Given the description of an element on the screen output the (x, y) to click on. 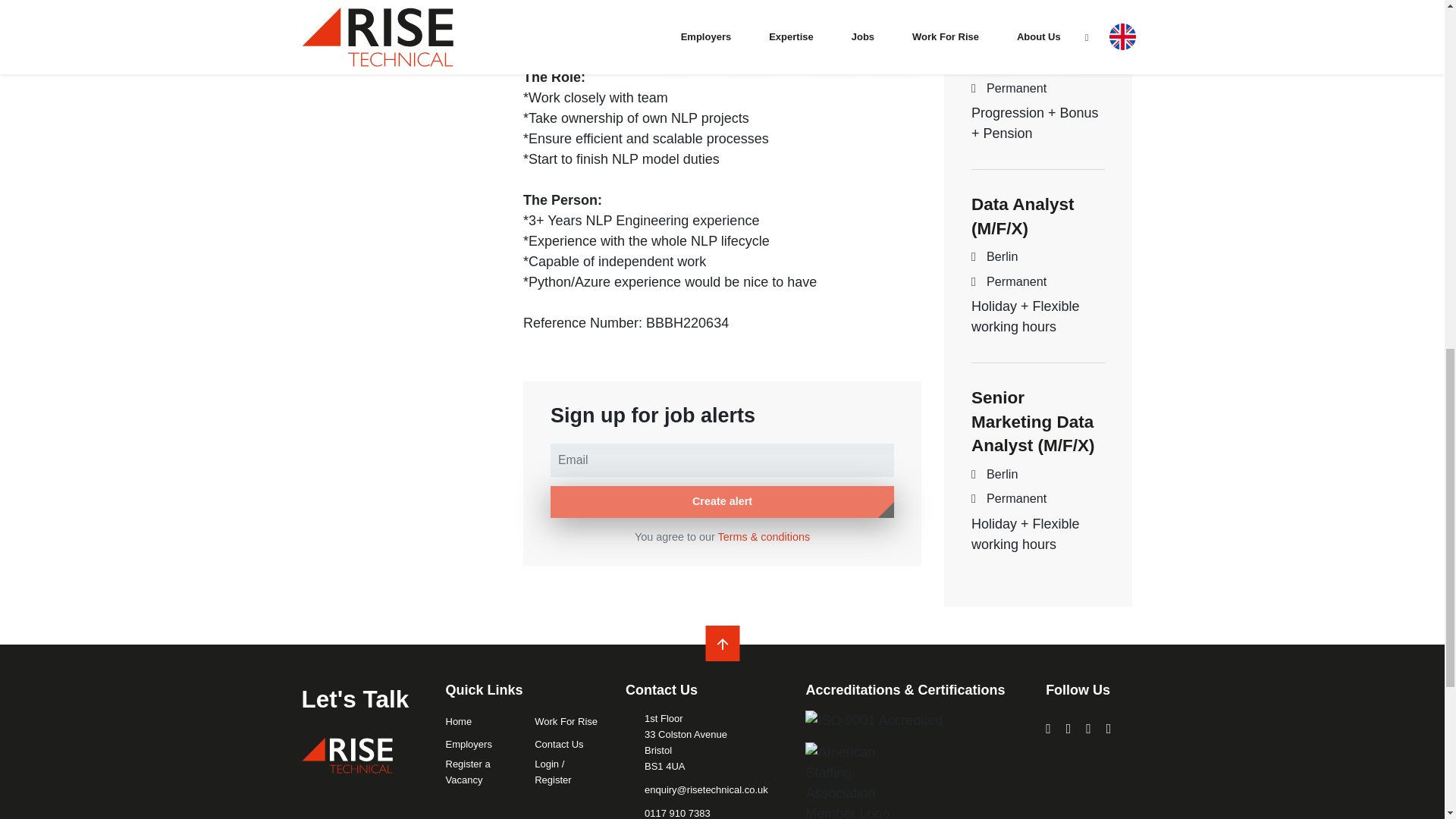
Up (722, 644)
Rise Technical Recruitment Ltd (347, 755)
Twitter (1109, 727)
LinkedIn (1048, 727)
Rise Technical Recruitment Ltd (347, 755)
Facebook (1088, 727)
Instagram (1068, 727)
